Given the description of an element on the screen output the (x, y) to click on. 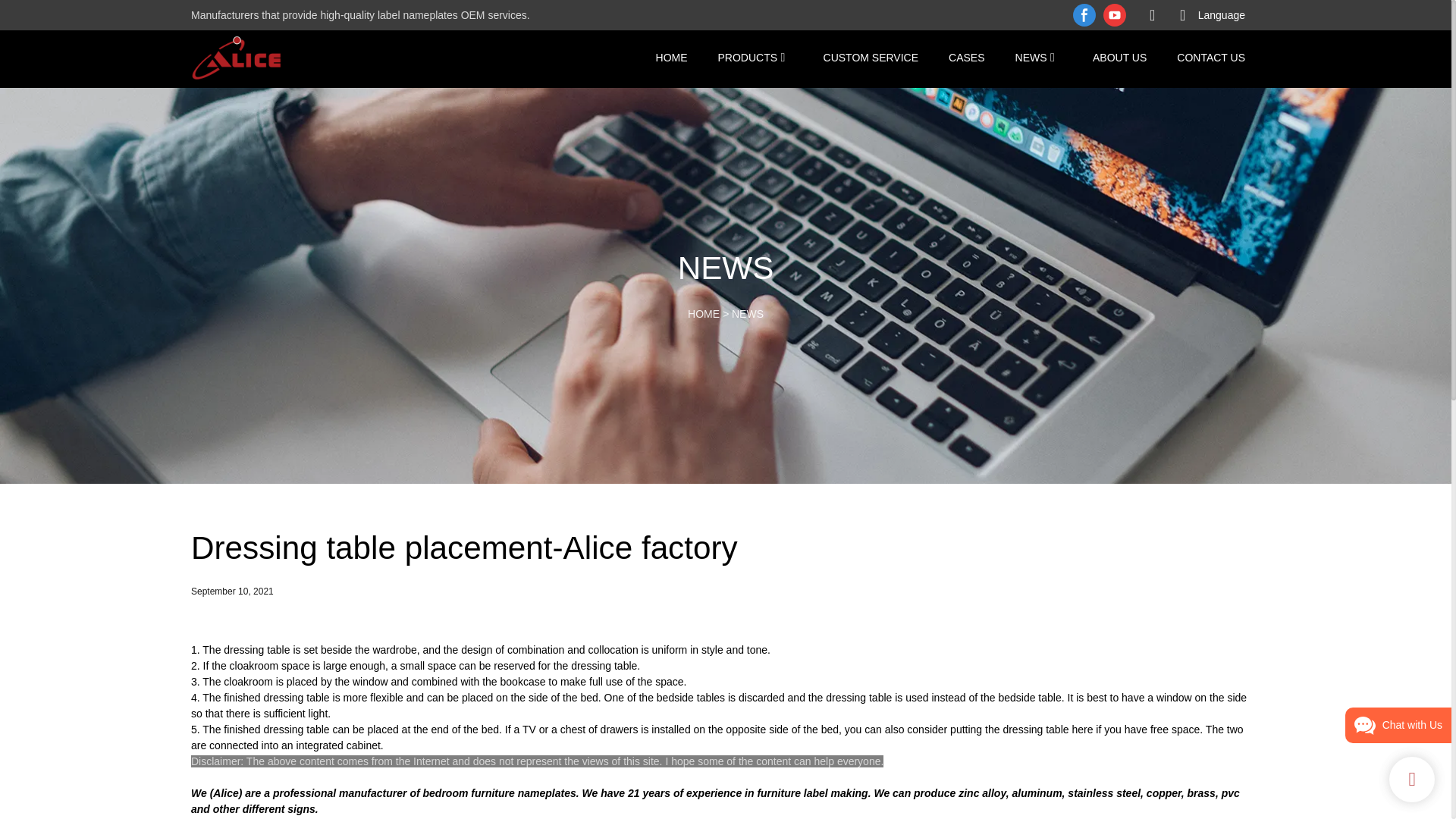
CUSTOM SERVICE (871, 57)
CASES (966, 57)
facebook (1083, 15)
youtube (1114, 15)
NEWS (1030, 57)
ABOUT US (1120, 57)
PRODUCTS (747, 57)
HOME (671, 57)
NEWS (747, 313)
CONTACT US (1210, 57)
HOME (703, 313)
